Given the description of an element on the screen output the (x, y) to click on. 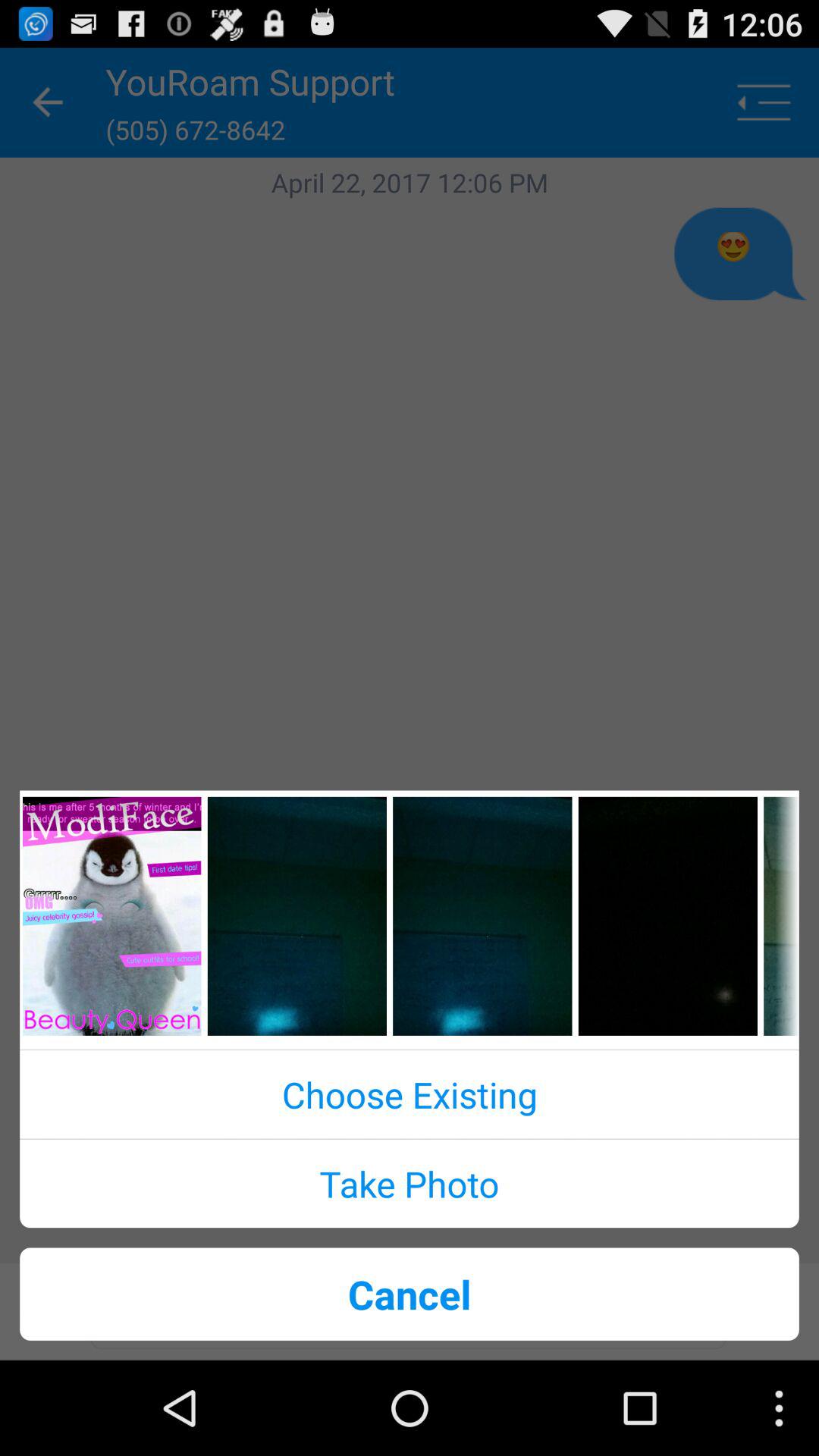
chooses picture (482, 915)
